Given the description of an element on the screen output the (x, y) to click on. 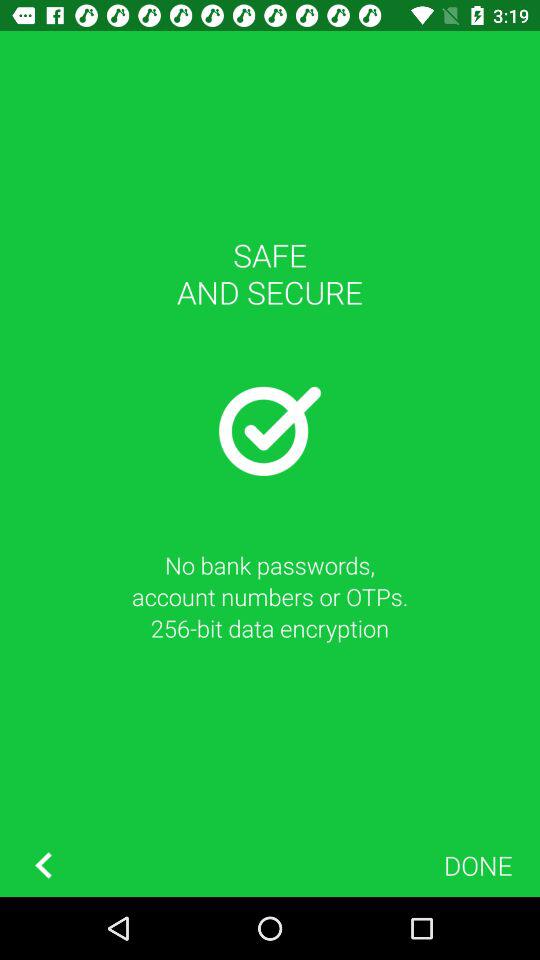
tap icon next to done item (43, 864)
